Given the description of an element on the screen output the (x, y) to click on. 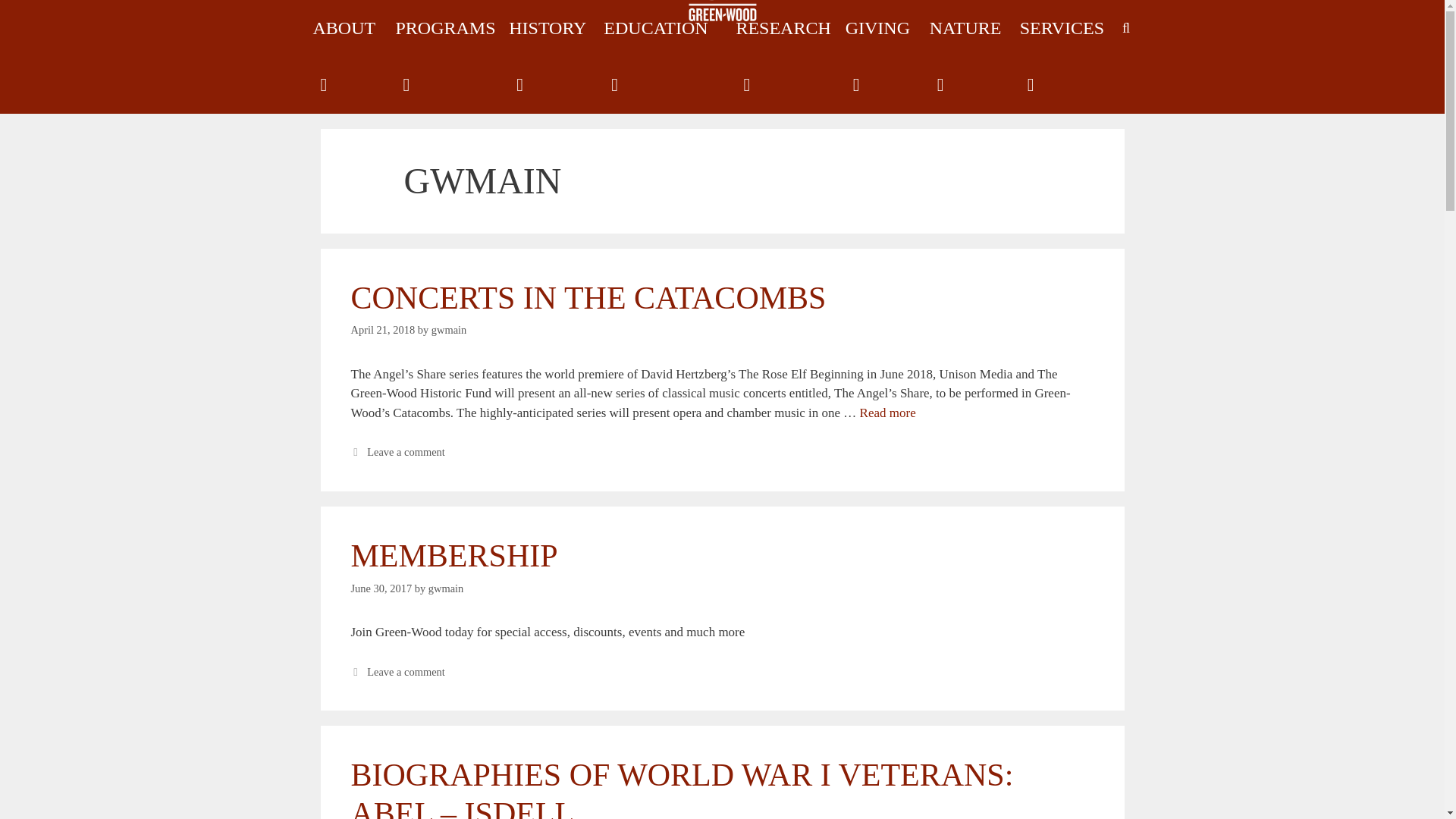
Green-Wood (721, 13)
View all posts by gwmain (446, 588)
Concerts in the Catacombs (887, 412)
View all posts by gwmain (448, 329)
